Given the description of an element on the screen output the (x, y) to click on. 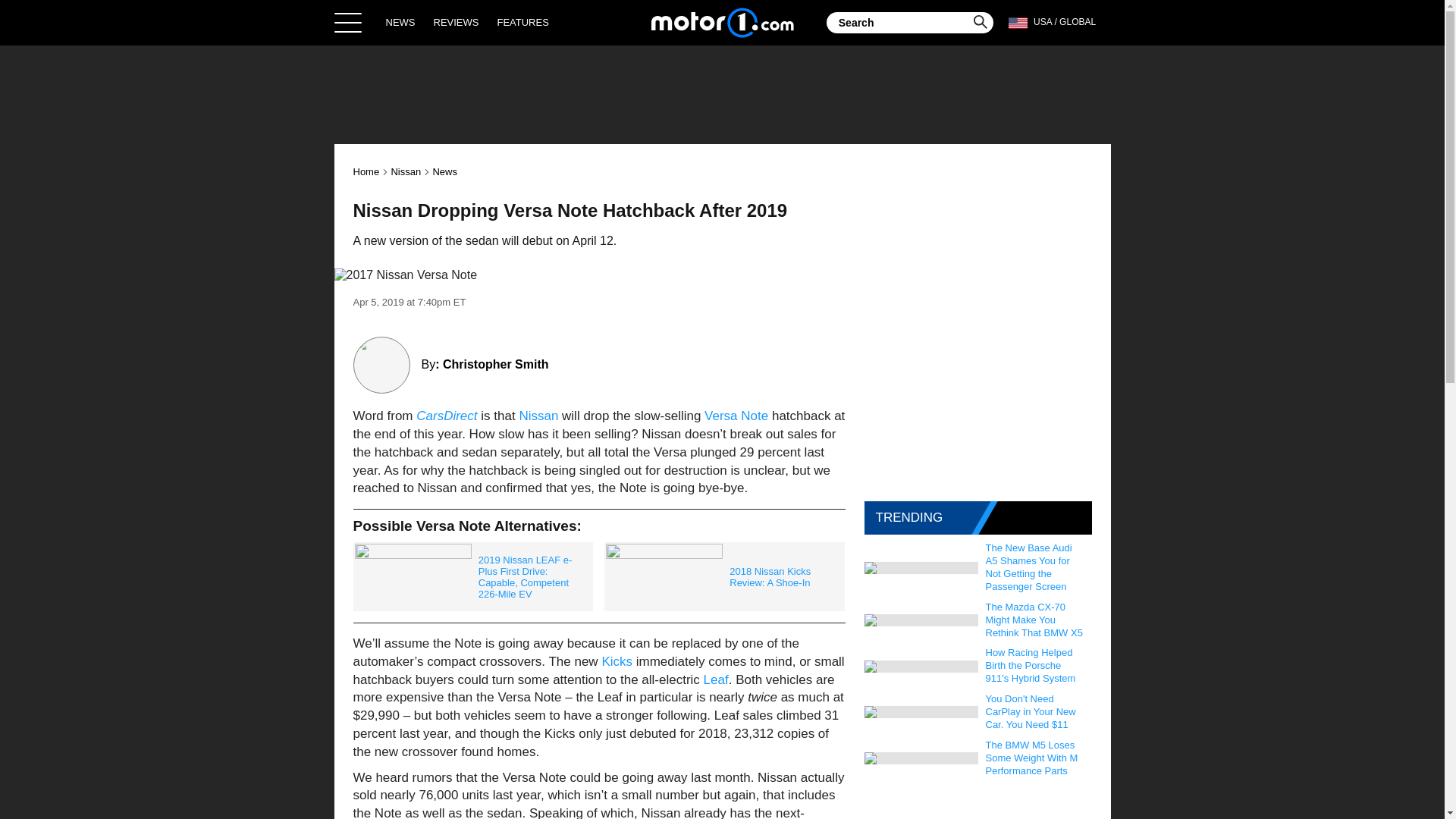
FEATURES (522, 22)
CarsDirect (446, 415)
Home (721, 22)
Nissan (537, 415)
2018 Nissan Kicks Review: A Shoe-In (724, 576)
Leaf (716, 679)
REVIEWS (456, 22)
Home (366, 171)
Nissan (405, 171)
Christopher Smith (495, 364)
News (444, 171)
Versa Note (736, 415)
NEWS (399, 22)
Kicks (616, 661)
